Given the description of an element on the screen output the (x, y) to click on. 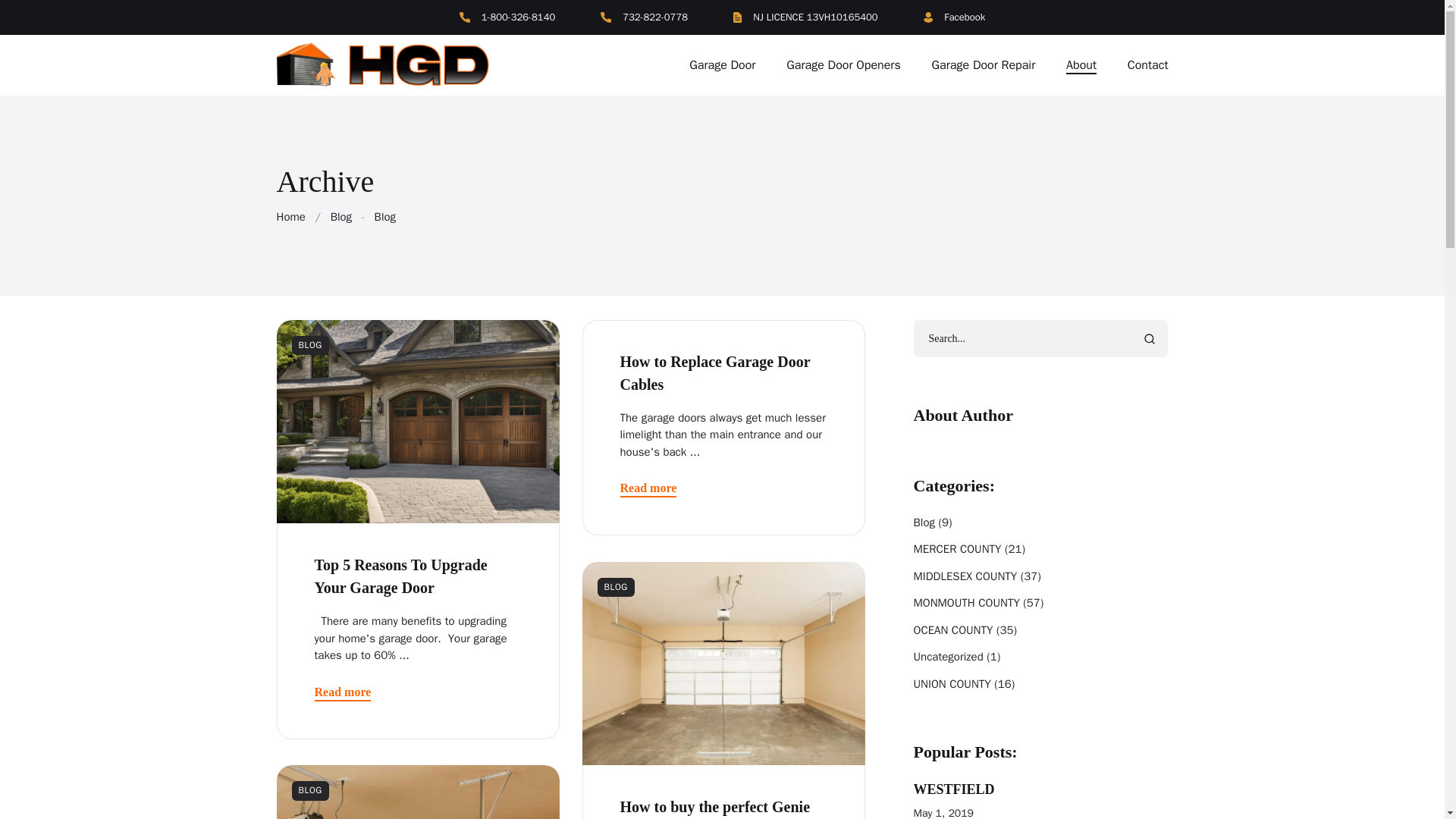
Garage Door Repair (983, 64)
NJ LICENCE 13VH10165400 (805, 17)
Garage Door Openers (843, 64)
Garage Door Openers (843, 64)
Facebook (954, 17)
732-822-0778 (643, 17)
Contact (1141, 64)
Blog (341, 216)
About (1080, 64)
Home (290, 216)
